Given the description of an element on the screen output the (x, y) to click on. 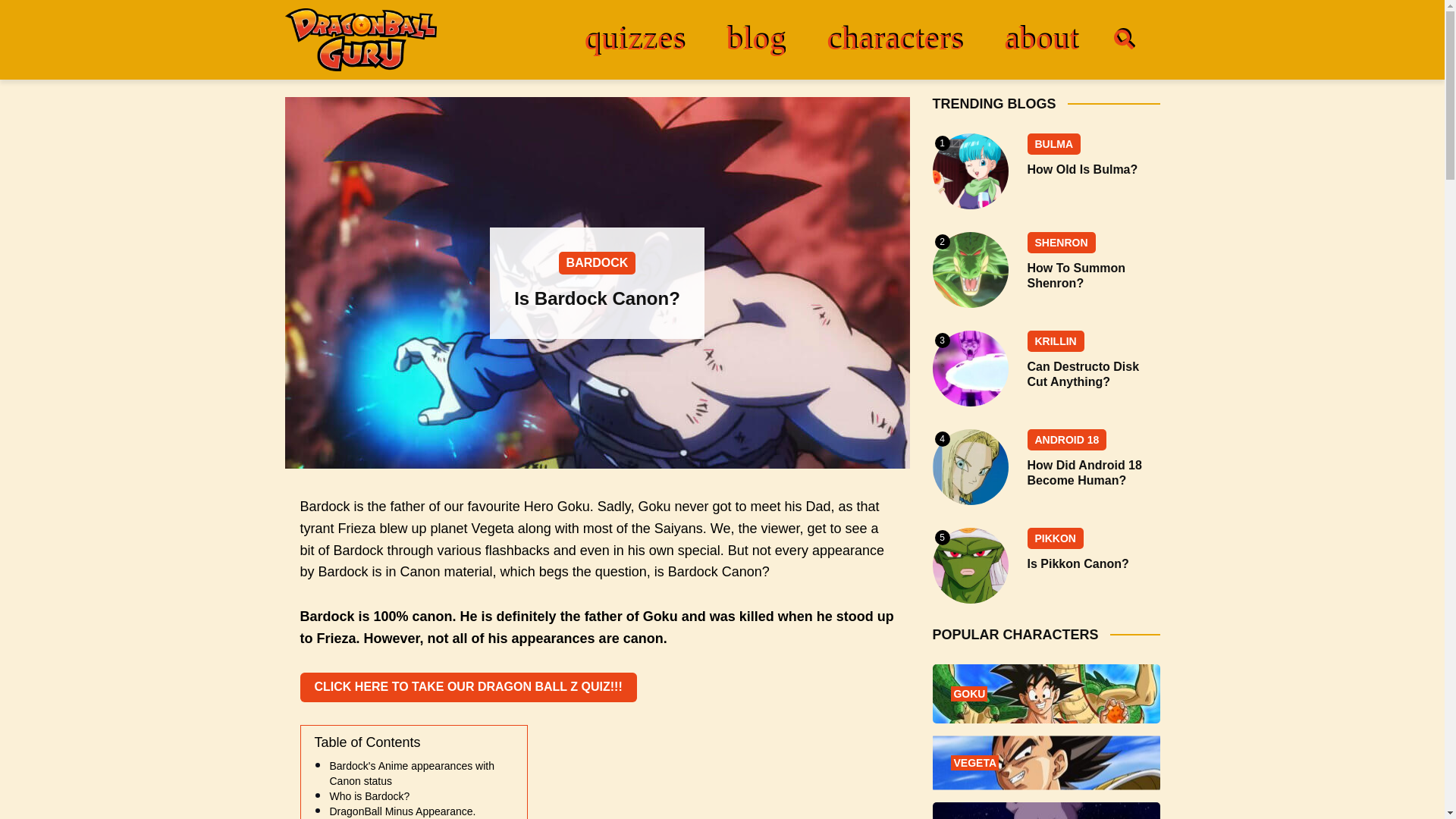
SEARCH ICON (1123, 39)
Bardock's Anime appearances with Canon status (411, 773)
characters (894, 38)
Who is Bardock? (369, 796)
blog (756, 38)
DragonBall Minus Appearance. (402, 811)
CLICK HERE TO TAKE OUR DRAGON BALL Z QUIZ!!! (468, 686)
BARDOCK (597, 262)
about (1041, 38)
quizzes (635, 38)
